Given the description of an element on the screen output the (x, y) to click on. 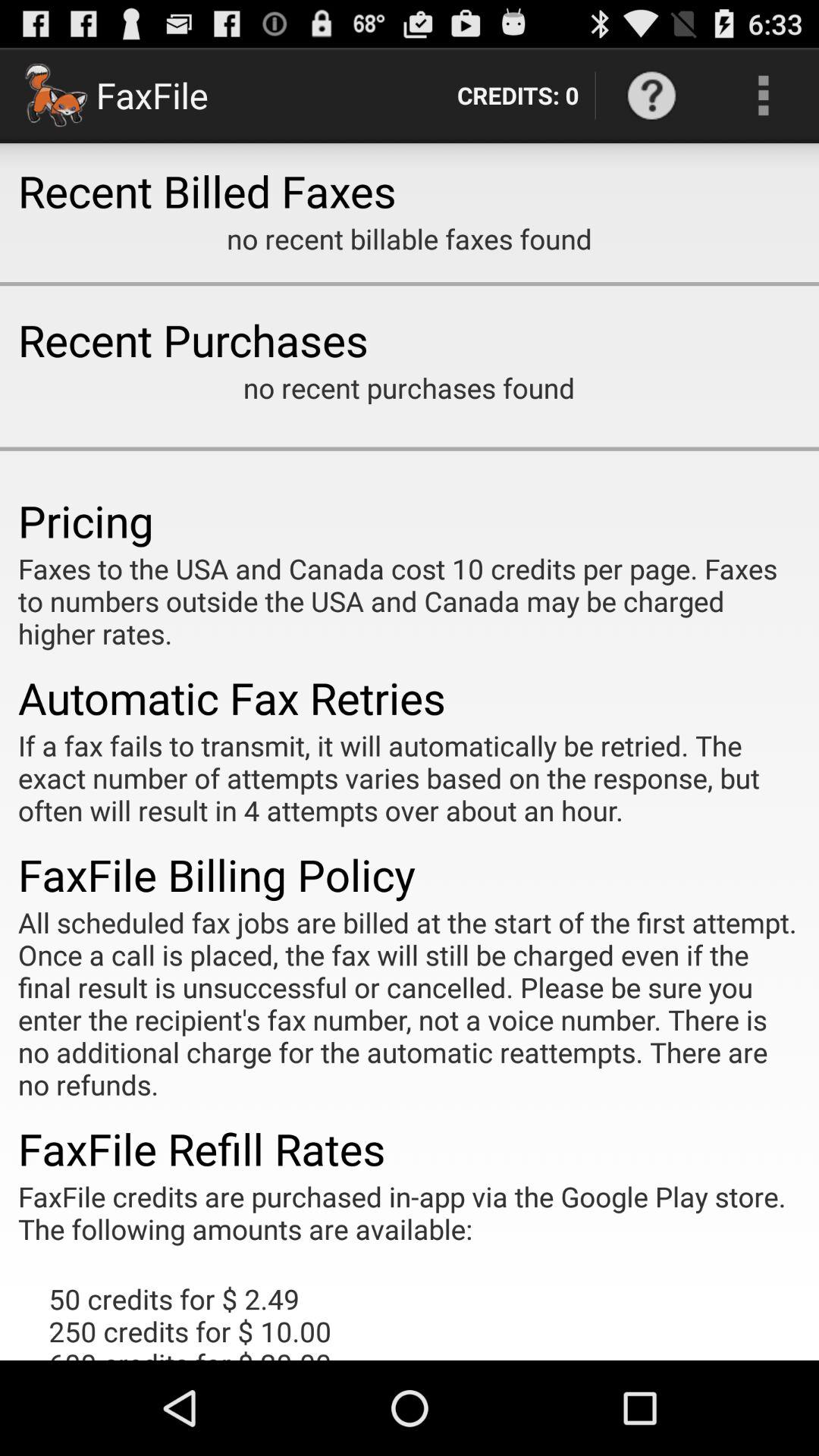
jump until credits: 0 item (517, 95)
